Given the description of an element on the screen output the (x, y) to click on. 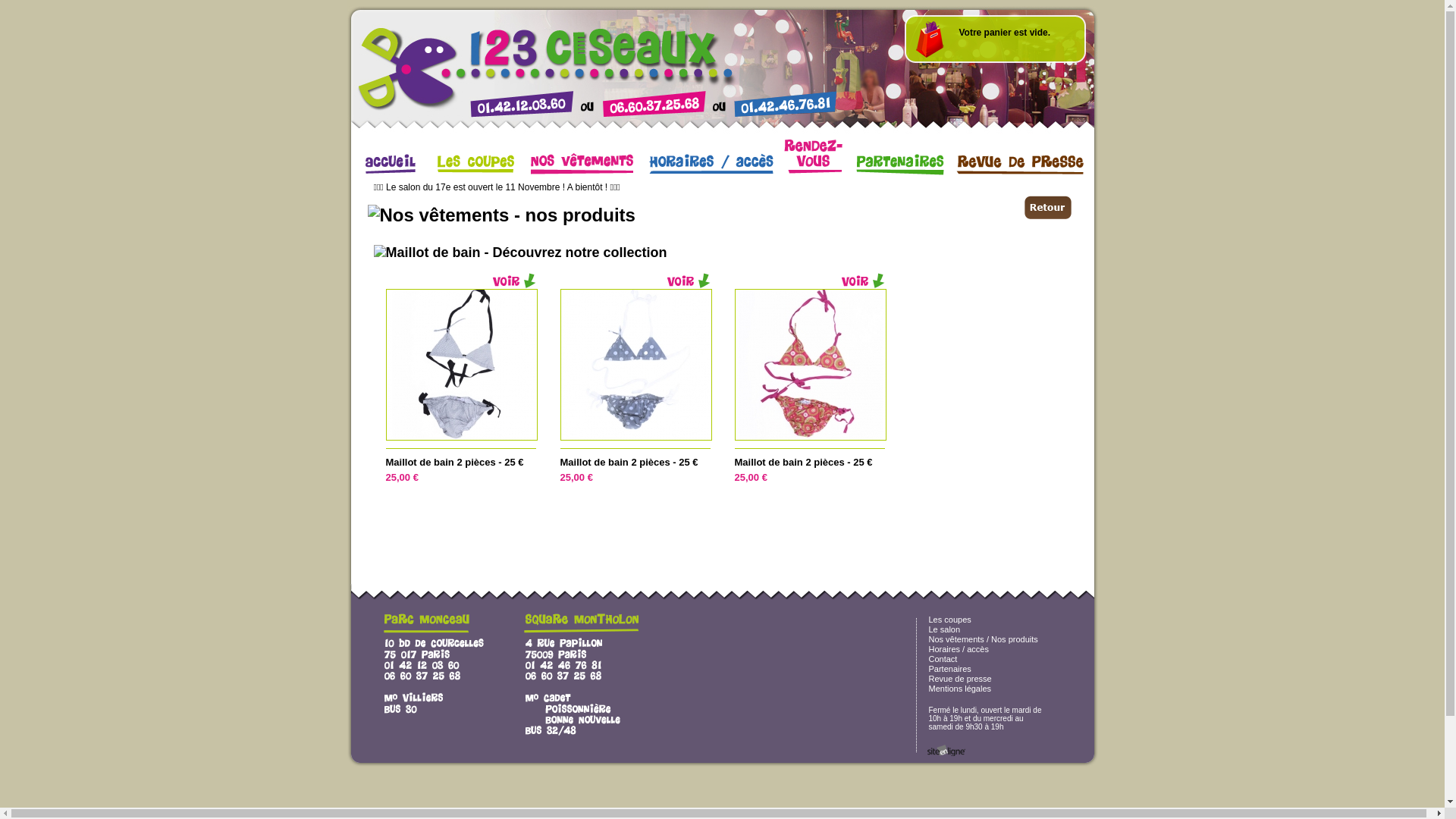
Les coupes Element type: text (949, 619)
Partenaires Element type: text (949, 668)
Revue de presse Element type: text (959, 678)
Contact Element type: text (942, 658)
Le salon Element type: text (944, 628)
